Given the description of an element on the screen output the (x, y) to click on. 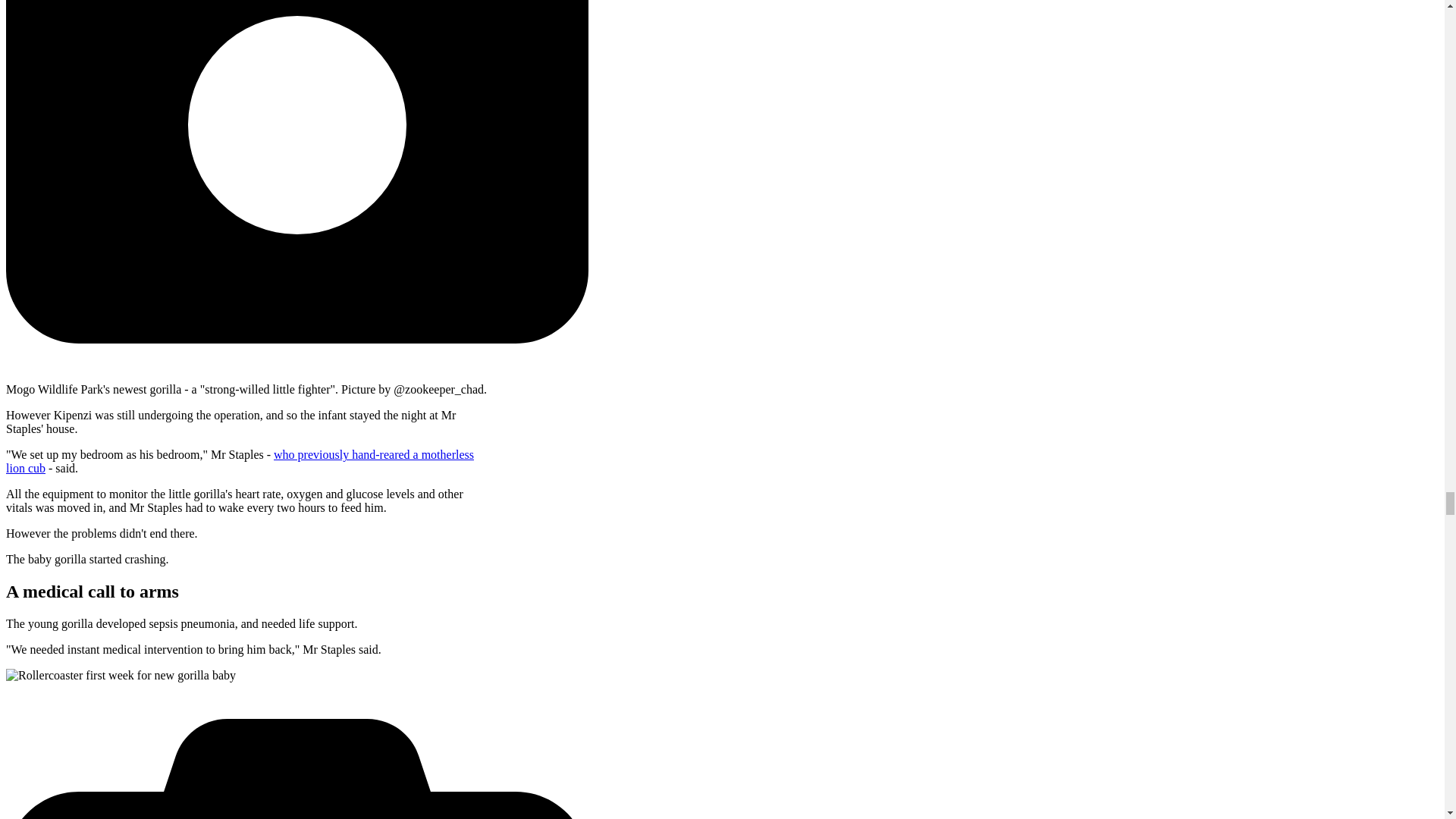
Rollercoaster first week for new gorilla baby (120, 675)
